Given the description of an element on the screen output the (x, y) to click on. 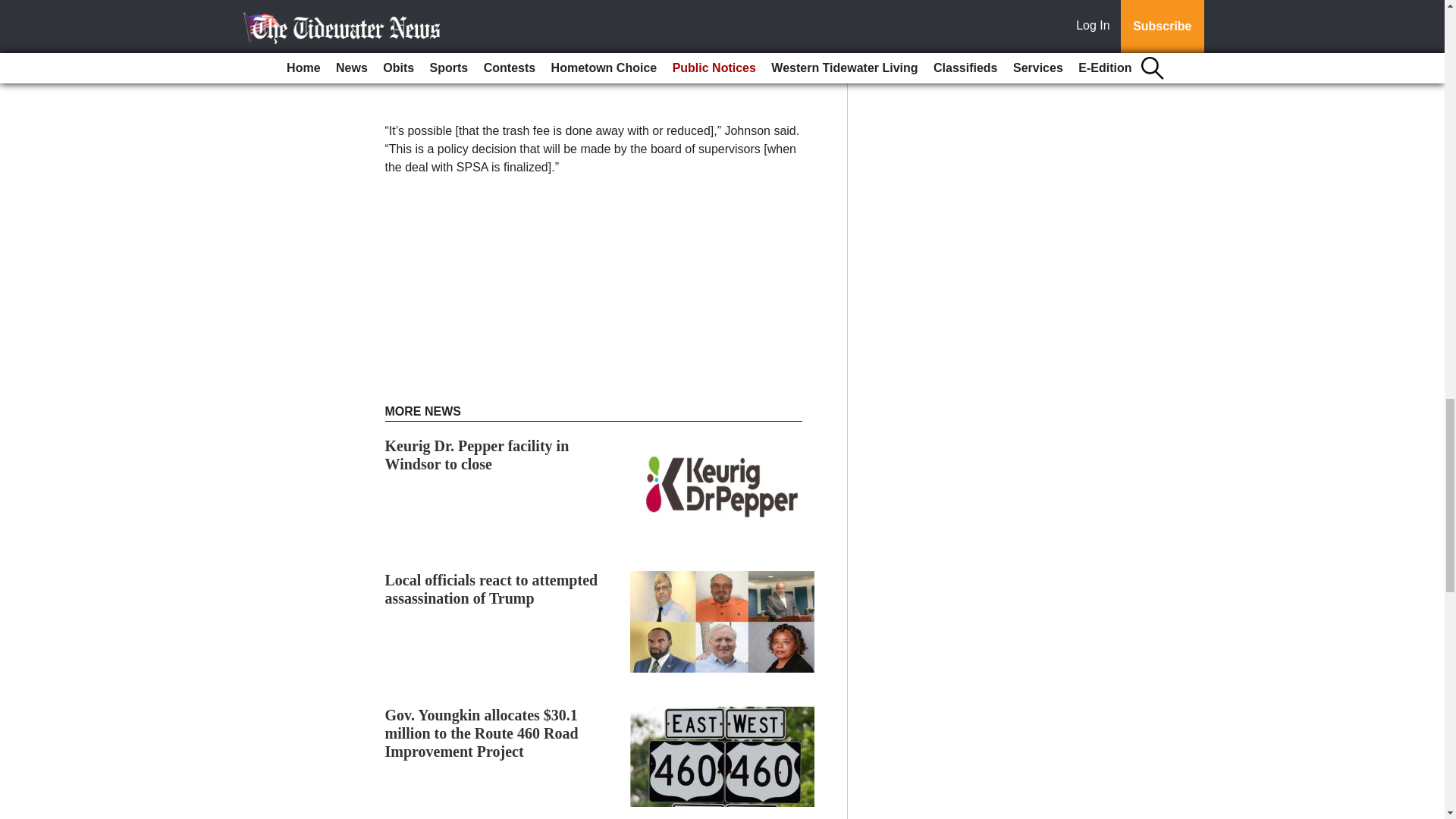
Keurig Dr. Pepper facility in Windsor to close (477, 454)
Keurig Dr. Pepper facility in Windsor to close (477, 454)
Local officials react to attempted assassination of Trump (491, 588)
Local officials react to attempted assassination of Trump (491, 588)
